Given the description of an element on the screen output the (x, y) to click on. 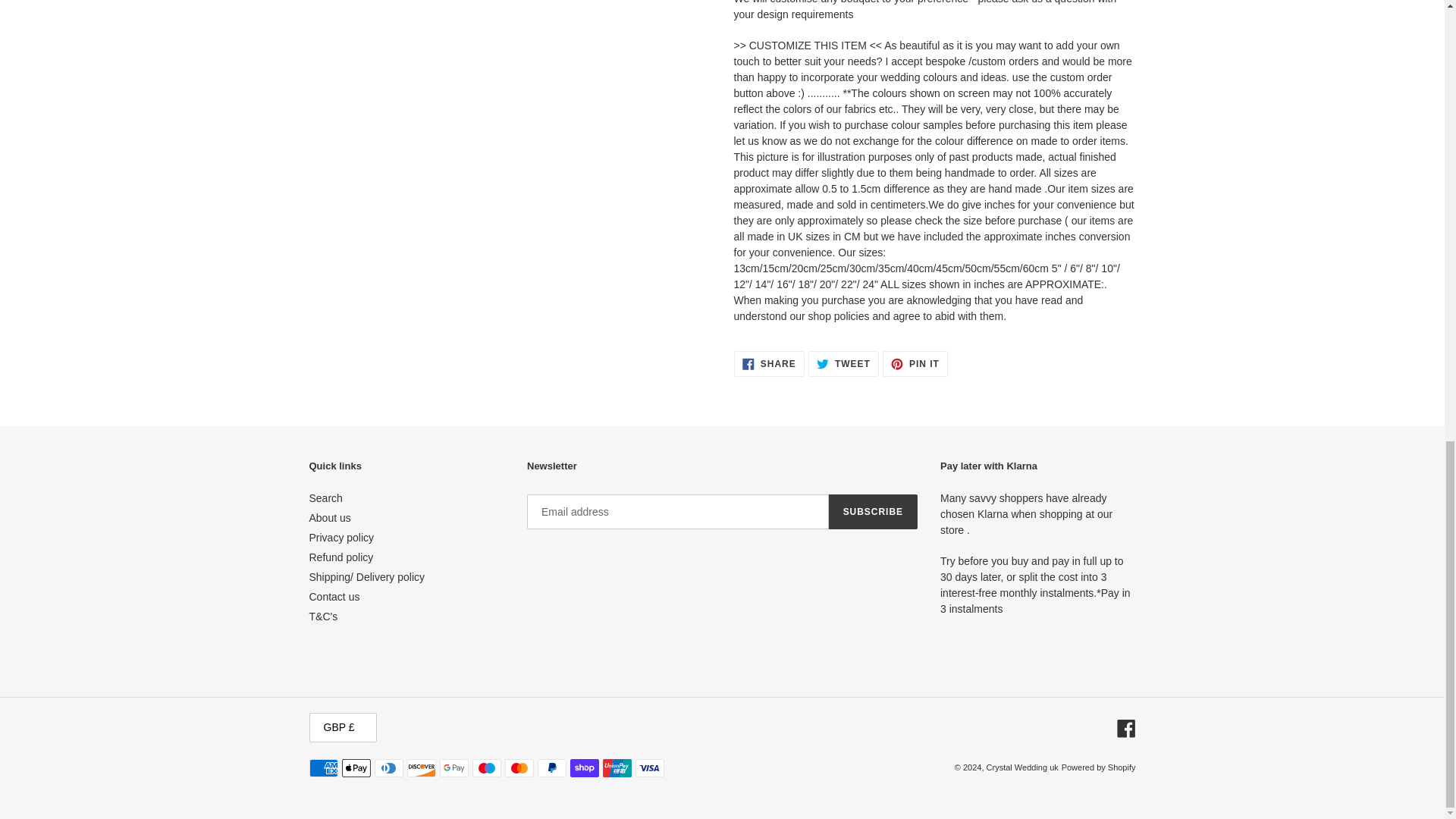
About us (329, 517)
Contact us (333, 596)
Privacy policy (341, 537)
Refund policy (341, 557)
Search (325, 498)
